Given the description of an element on the screen output the (x, y) to click on. 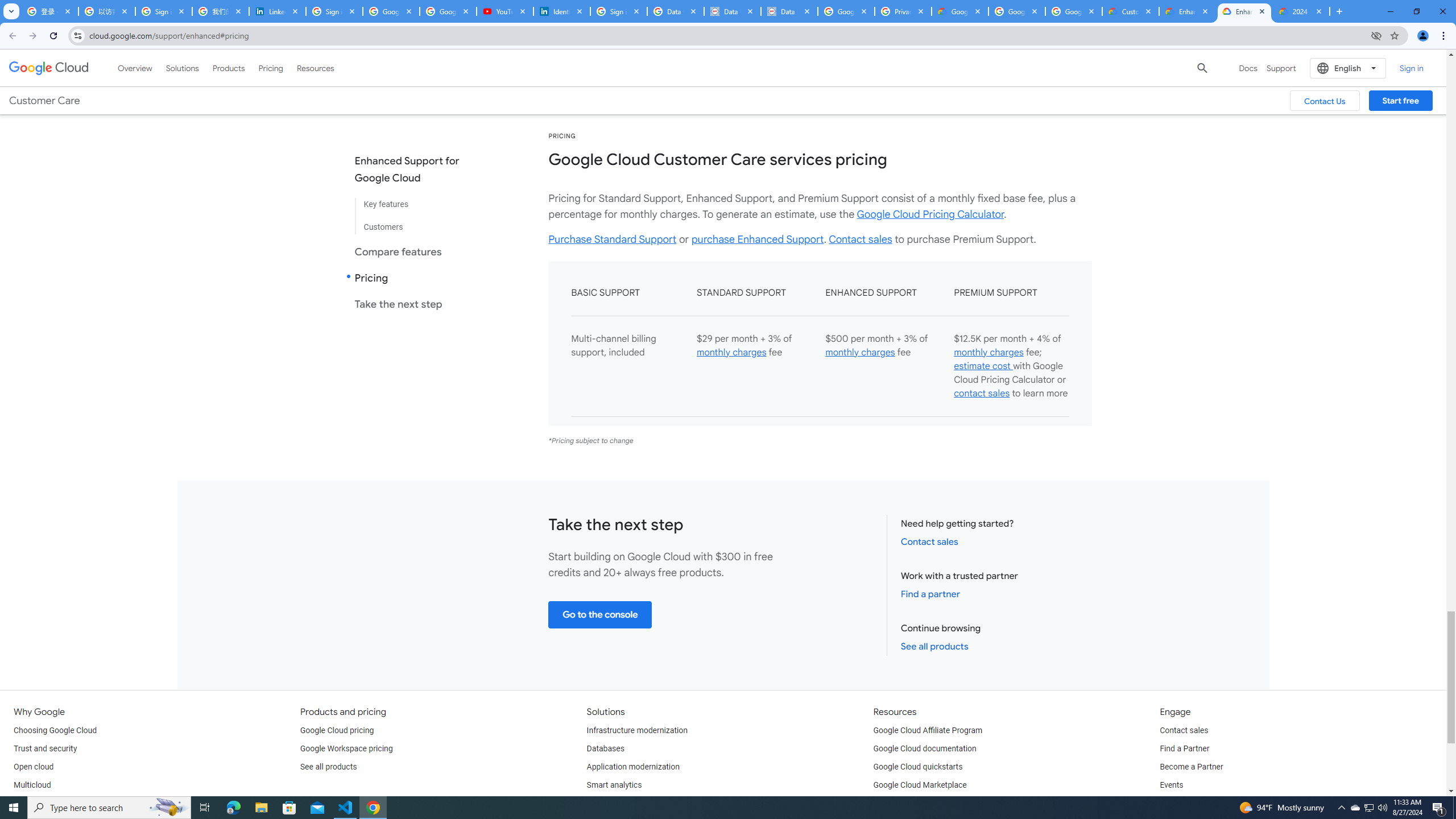
Compare features (416, 251)
Google Cloud pricing (336, 730)
Choosing Google Cloud (55, 730)
Data Privacy Framework (731, 11)
Smart analytics (614, 784)
See all products (327, 766)
estimate cost  (983, 365)
